Given the description of an element on the screen output the (x, y) to click on. 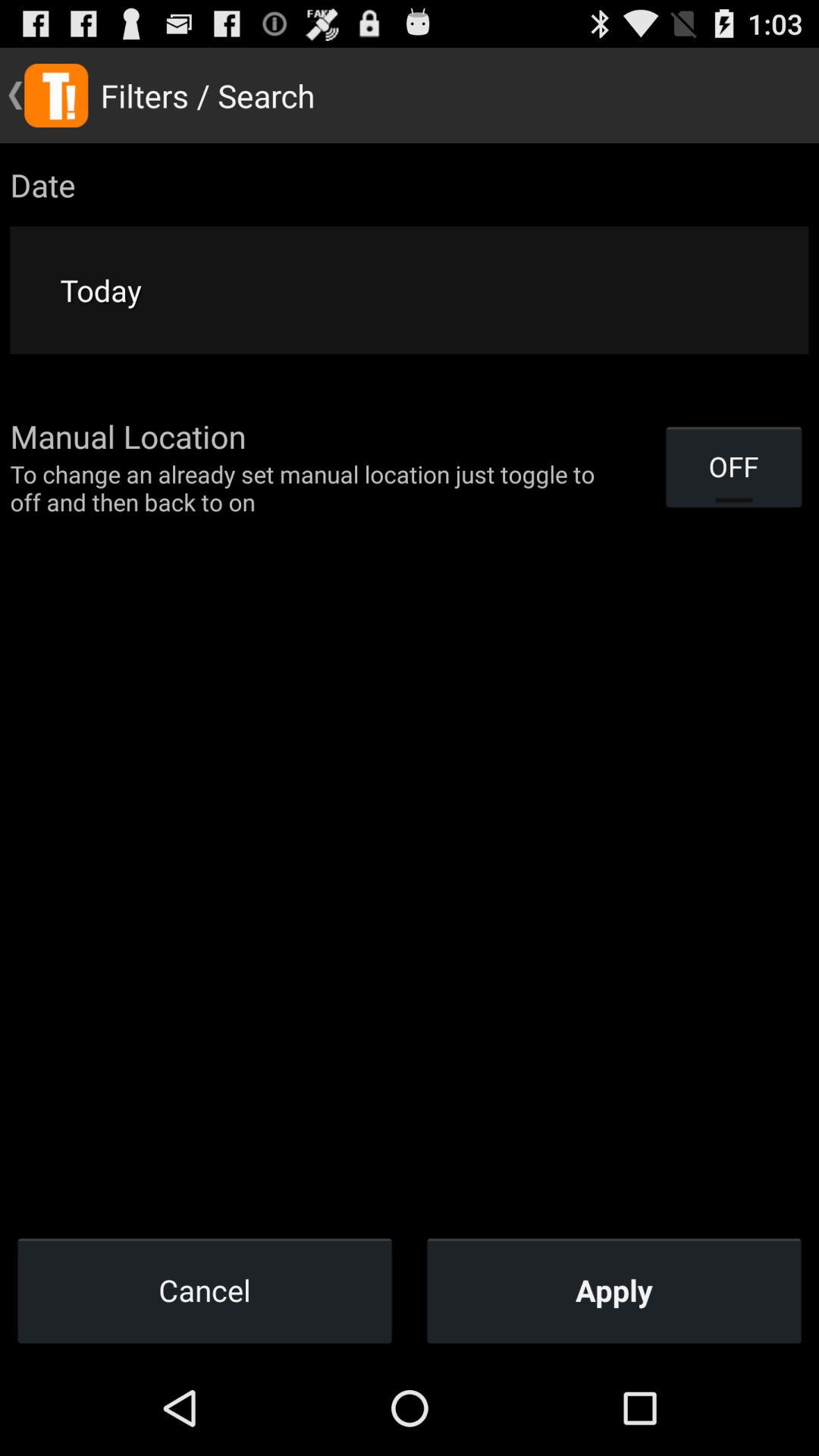
turn off the apply icon (613, 1290)
